Given the description of an element on the screen output the (x, y) to click on. 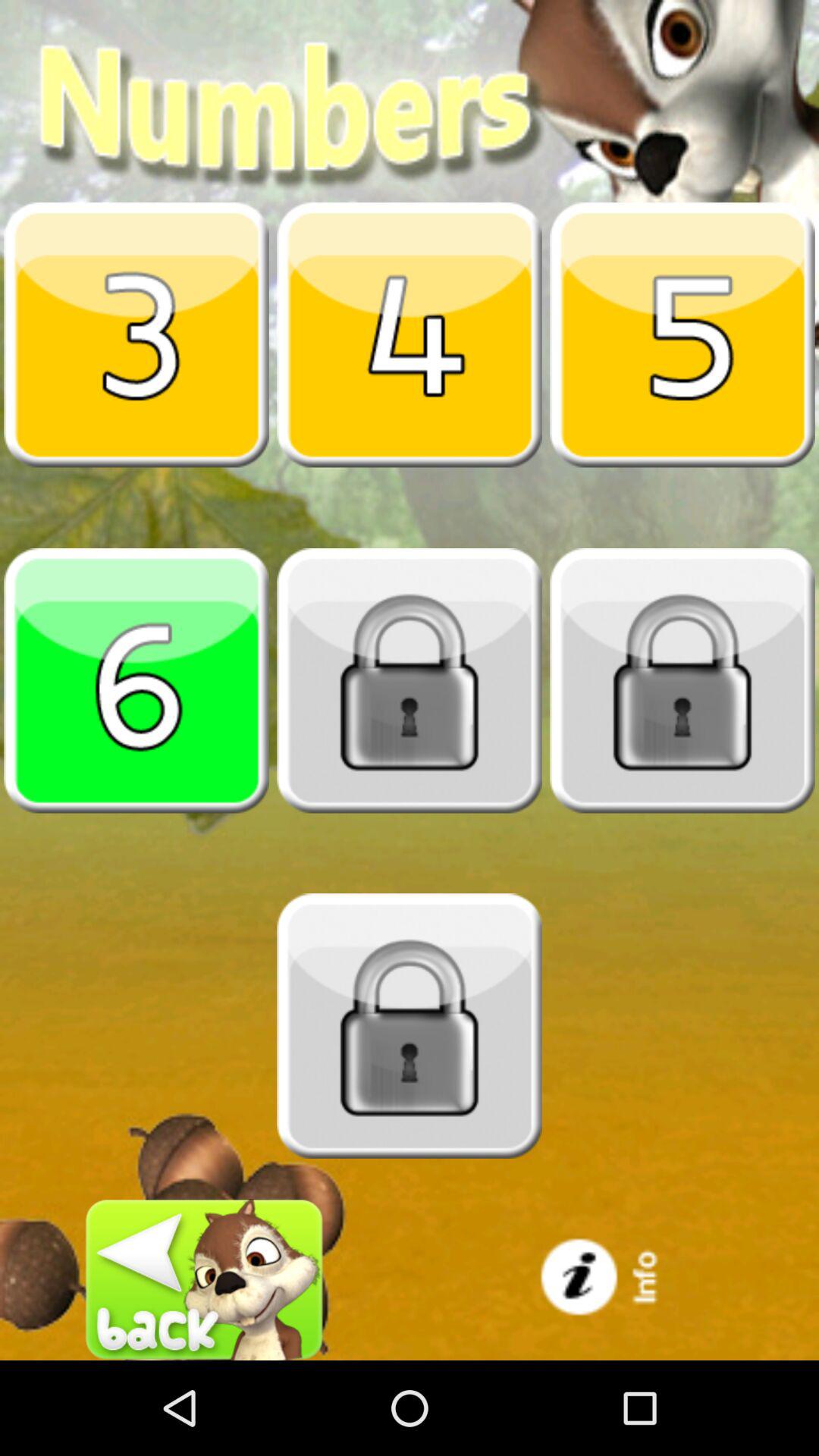
click for number (136, 680)
